Given the description of an element on the screen output the (x, y) to click on. 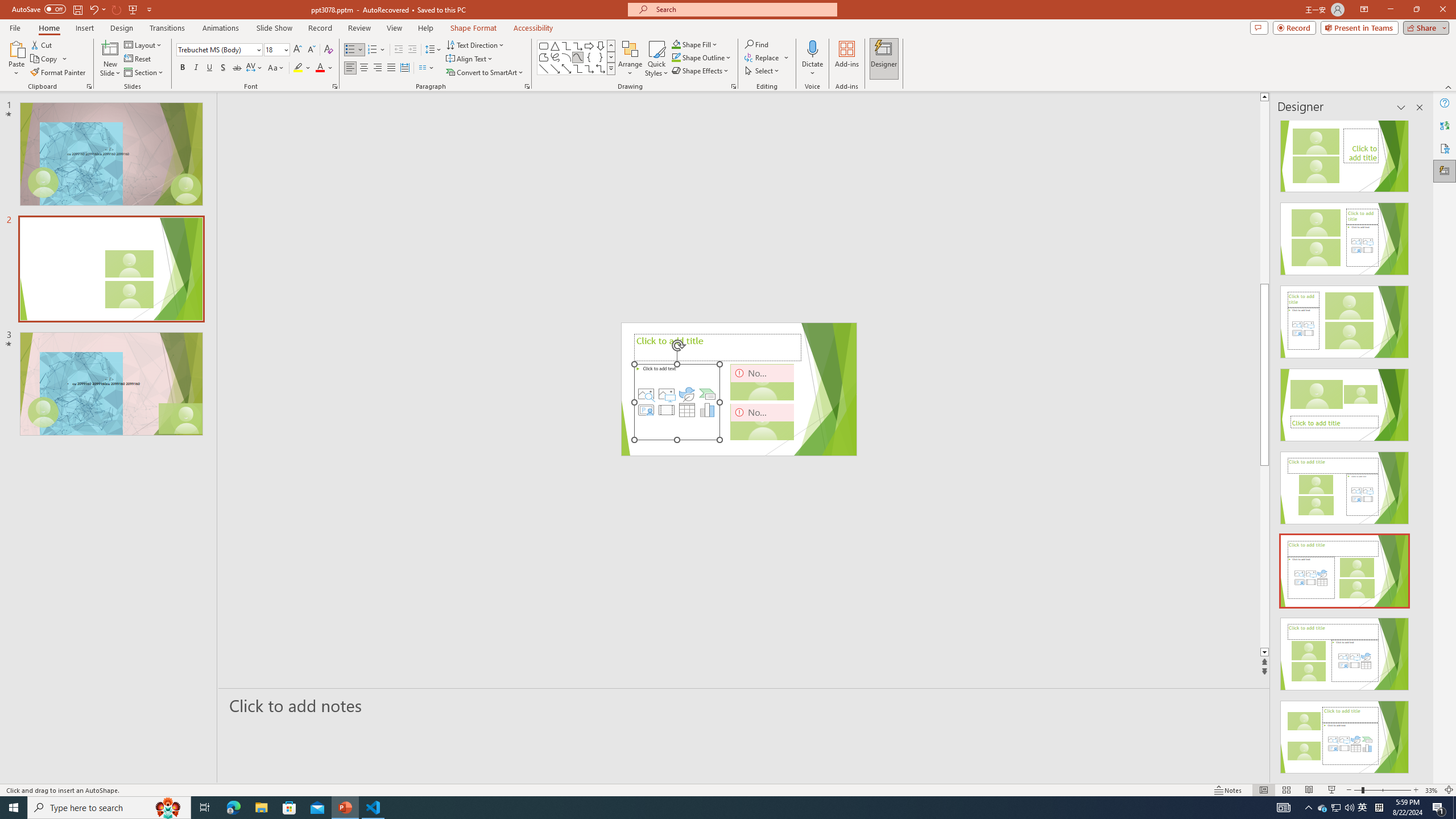
Insert a SmartArt Graphic (707, 394)
Recommended Design: Design Idea (1344, 152)
